Given the description of an element on the screen output the (x, y) to click on. 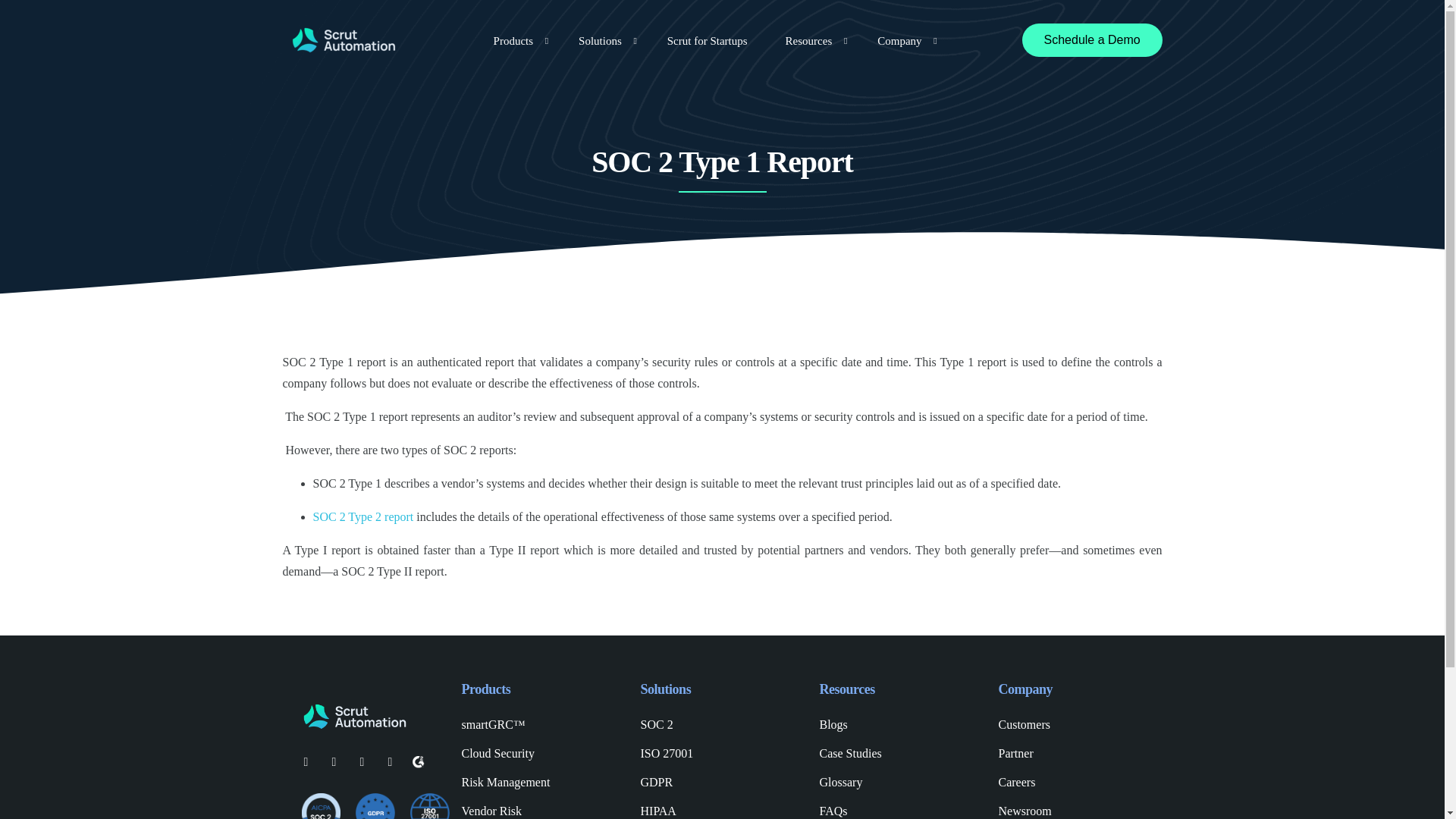
Products (517, 40)
SOC 2 Type 2 report (363, 516)
Resources (813, 40)
Solutions (603, 40)
Schedule a Demo (1091, 39)
Scrut for Startups (707, 40)
Company (903, 40)
